Given the description of an element on the screen output the (x, y) to click on. 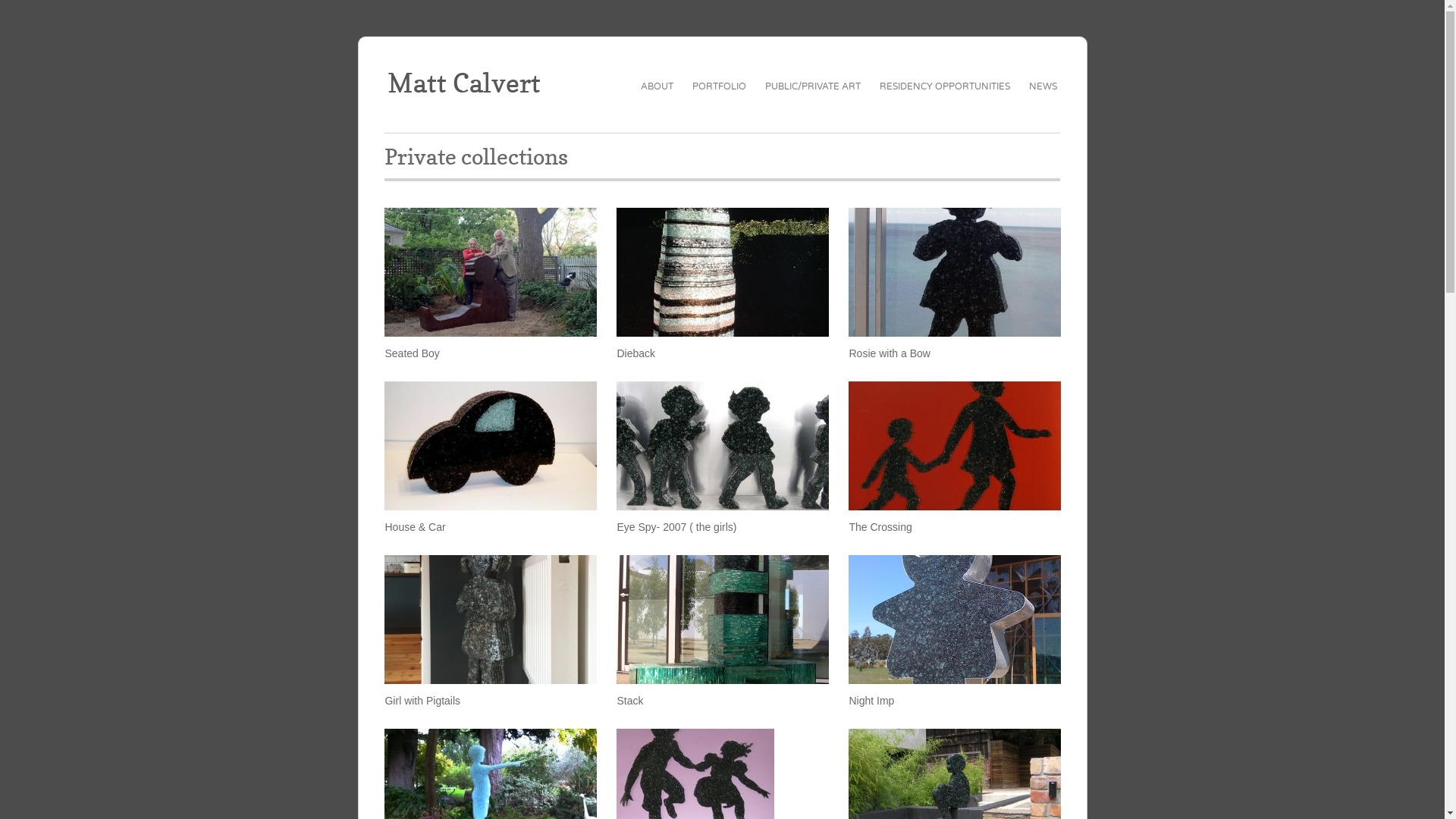
Rosie with a Bow Element type: text (888, 353)
Eye Spy- 2007 ( the girls) Element type: text (676, 526)
Seated Boy Element type: text (411, 353)
Girl with Pigtails Element type: text (422, 700)
Stack Element type: hover (722, 619)
PORTFOLIO Element type: text (719, 86)
The Crossing Element type: text (879, 526)
Dieback Element type: text (635, 353)
Seated Boy Element type: hover (490, 271)
Eye Spy- 2007 ( the girls) Element type: hover (722, 445)
Dieback Element type: hover (722, 271)
Matt Calvert Element type: text (463, 82)
House & Car Element type: text (414, 526)
Girl with Pigtails Element type: hover (490, 619)
Night Imp Element type: text (871, 700)
Stack Element type: text (629, 700)
The Crossing Element type: hover (954, 445)
RESIDENCY OPPORTUNITIES Element type: text (944, 86)
House & Car Element type: hover (490, 445)
NEWS Element type: text (1043, 86)
Rosie with a Bow Element type: hover (954, 271)
Night Imp Element type: hover (954, 619)
